Given the description of an element on the screen output the (x, y) to click on. 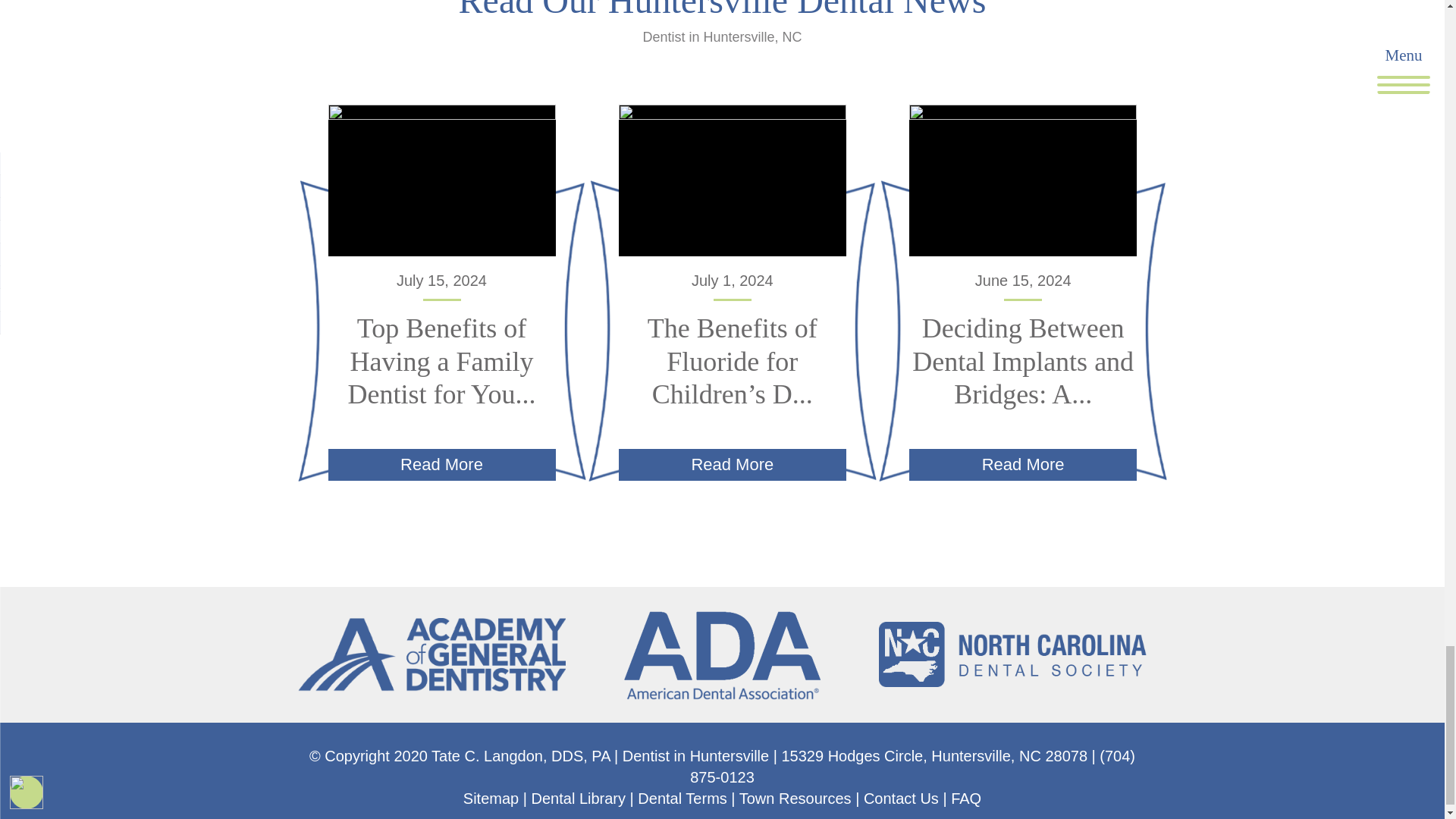
Dental Terms (681, 798)
Top Benefits of Having a Family Dentist for You... (441, 360)
Dental Library (578, 798)
Read More (440, 464)
15329 Hodges Circle, Huntersville, NC 28078 (933, 755)
FAQ (965, 798)
Read More (731, 464)
Town Resources (795, 798)
Read More (1022, 464)
Contact Us (901, 798)
Sitemap (490, 798)
Deciding Between Dental Implants and Bridges: A... (1023, 360)
